Given the description of an element on the screen output the (x, y) to click on. 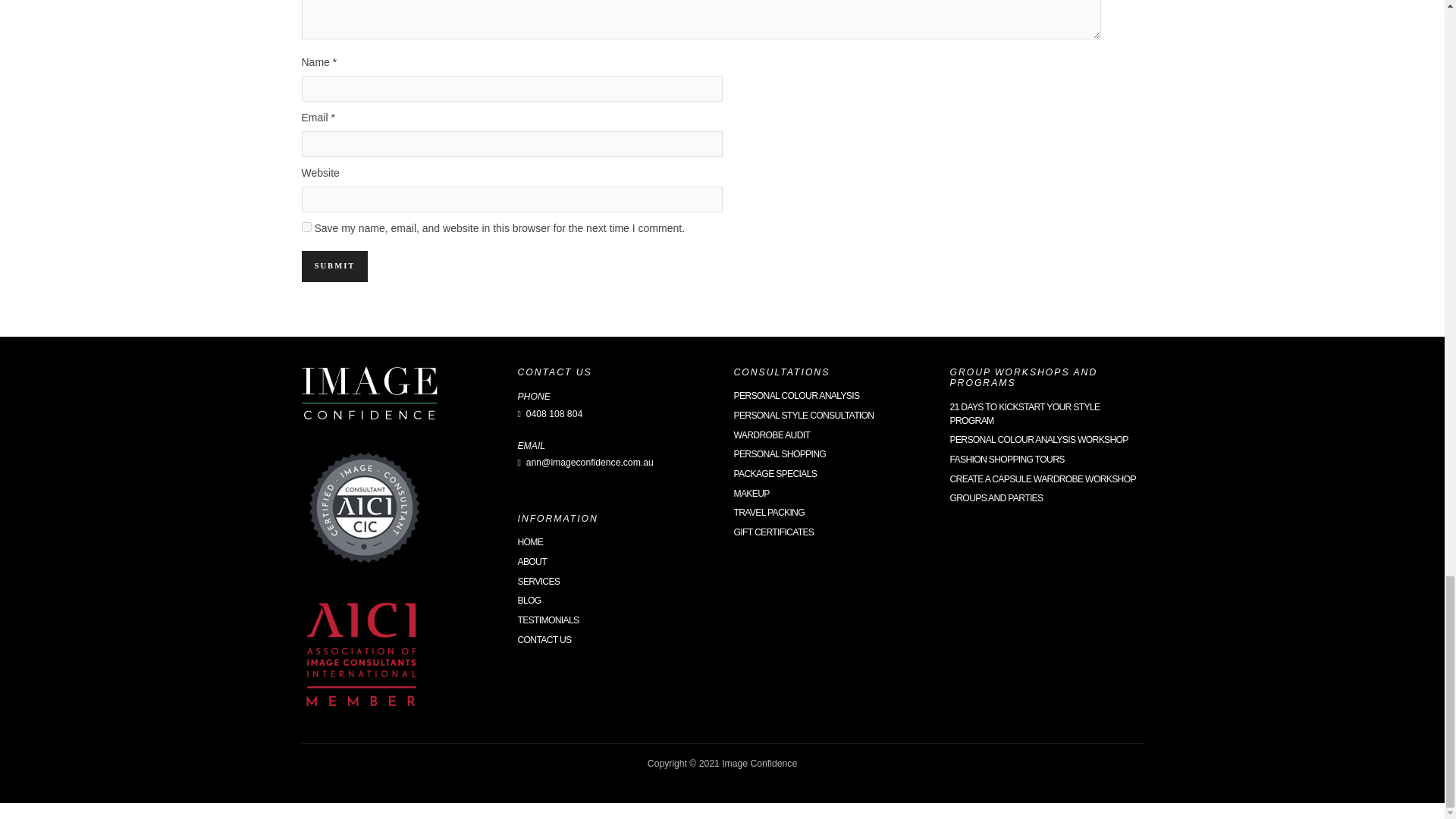
Submit (334, 265)
AICI Image Consultant CIC Member (363, 507)
Association of Image Consultatns International (362, 656)
yes (306, 226)
